Given the description of an element on the screen output the (x, y) to click on. 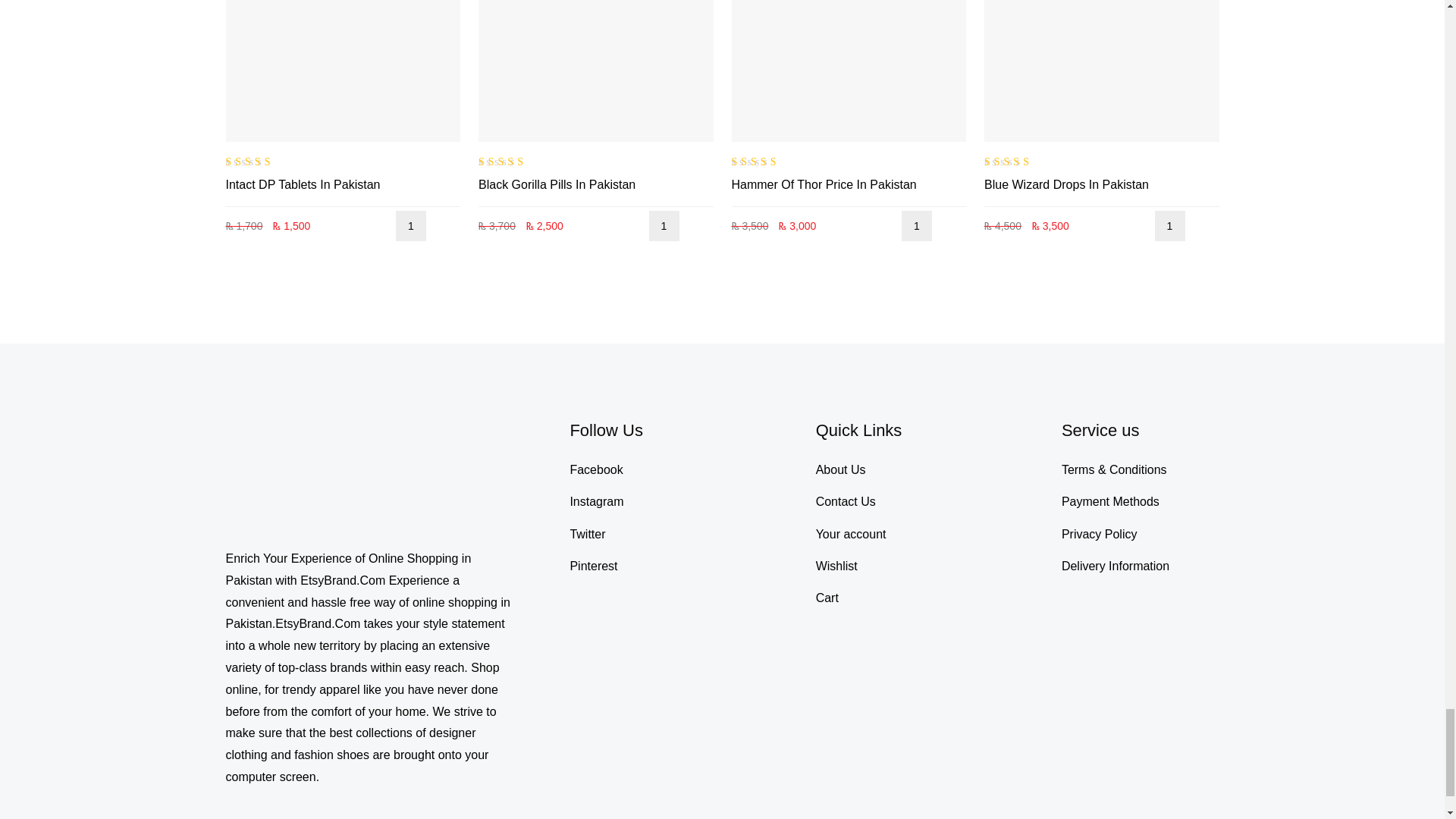
1 (411, 225)
1 (664, 225)
1 (916, 225)
1 (1169, 225)
